Given the description of an element on the screen output the (x, y) to click on. 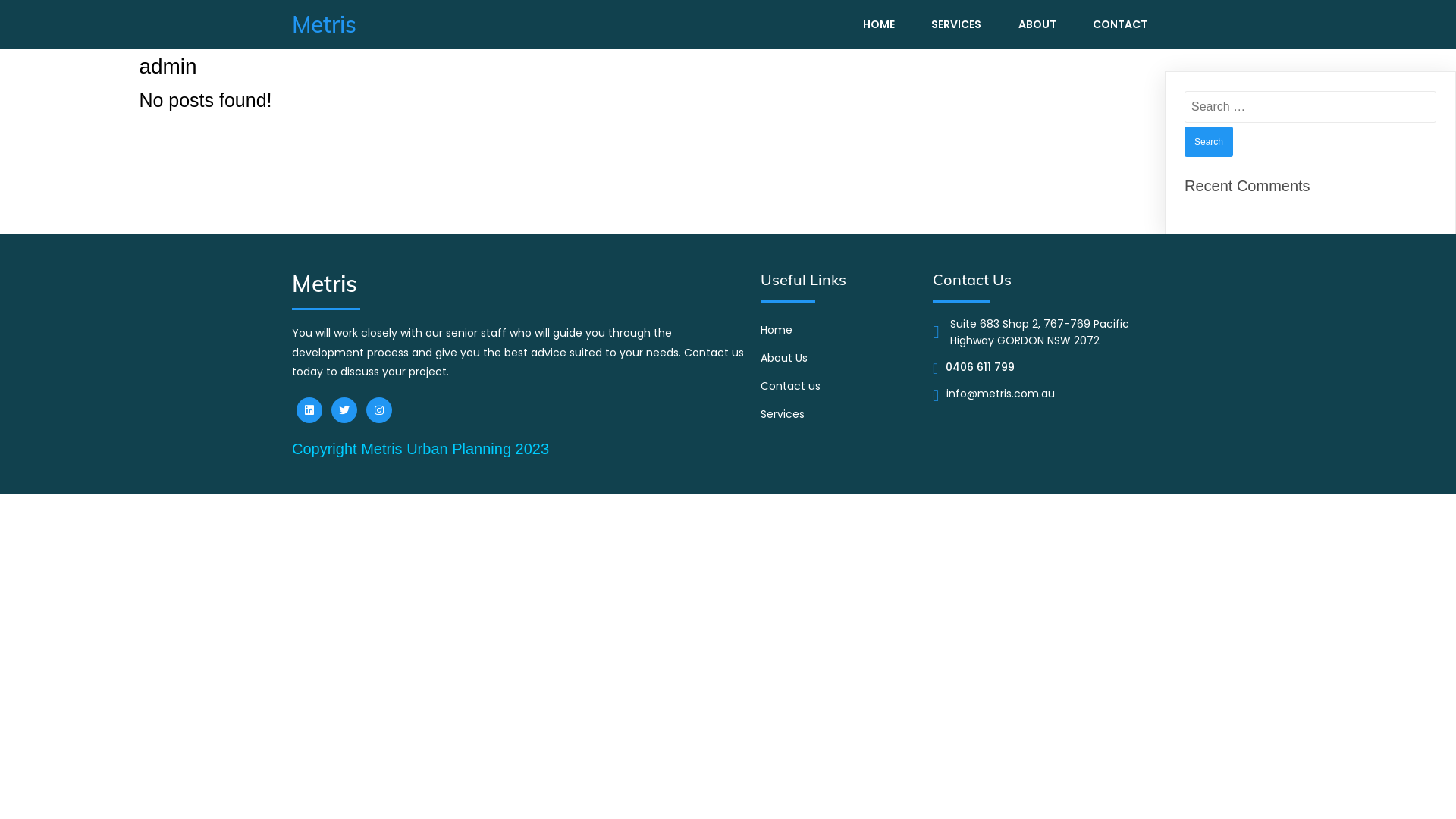
Home Element type: text (838, 329)
CONTACT Element type: text (1120, 24)
Search Element type: text (1208, 141)
Metris Element type: text (416, 23)
Metris Element type: text (518, 283)
About Us Element type: text (838, 357)
HOME Element type: text (878, 24)
Services Element type: text (838, 413)
info@metris.com.au Element type: text (1000, 395)
0406 611 799 Element type: text (979, 368)
Contact us Element type: text (838, 385)
ABOUT Element type: text (1037, 24)
SERVICES Element type: text (955, 24)
